Given the description of an element on the screen output the (x, y) to click on. 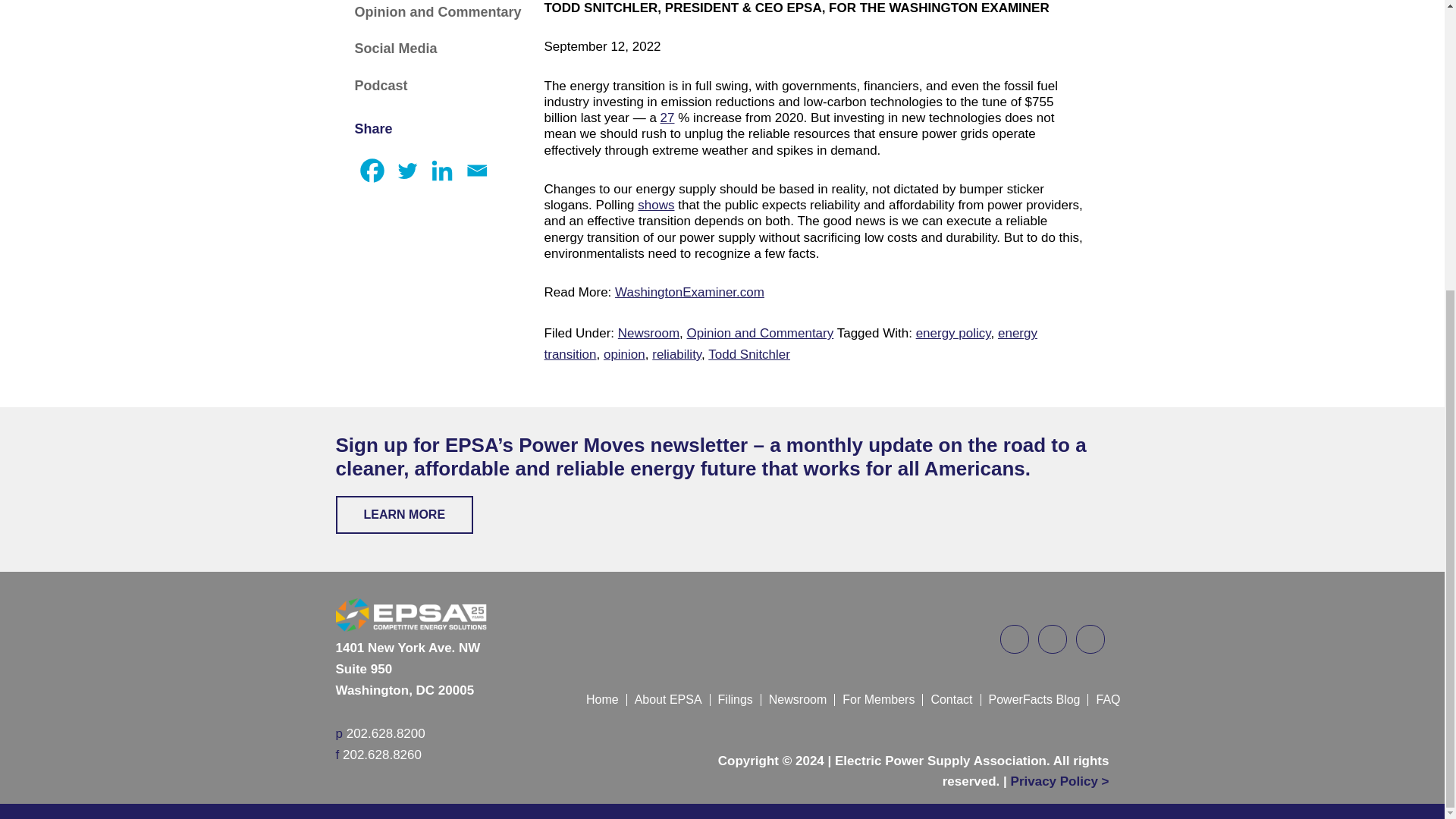
Linkedin (442, 170)
Twitter (407, 170)
Email (477, 170)
Facebook (372, 170)
